Given the description of an element on the screen output the (x, y) to click on. 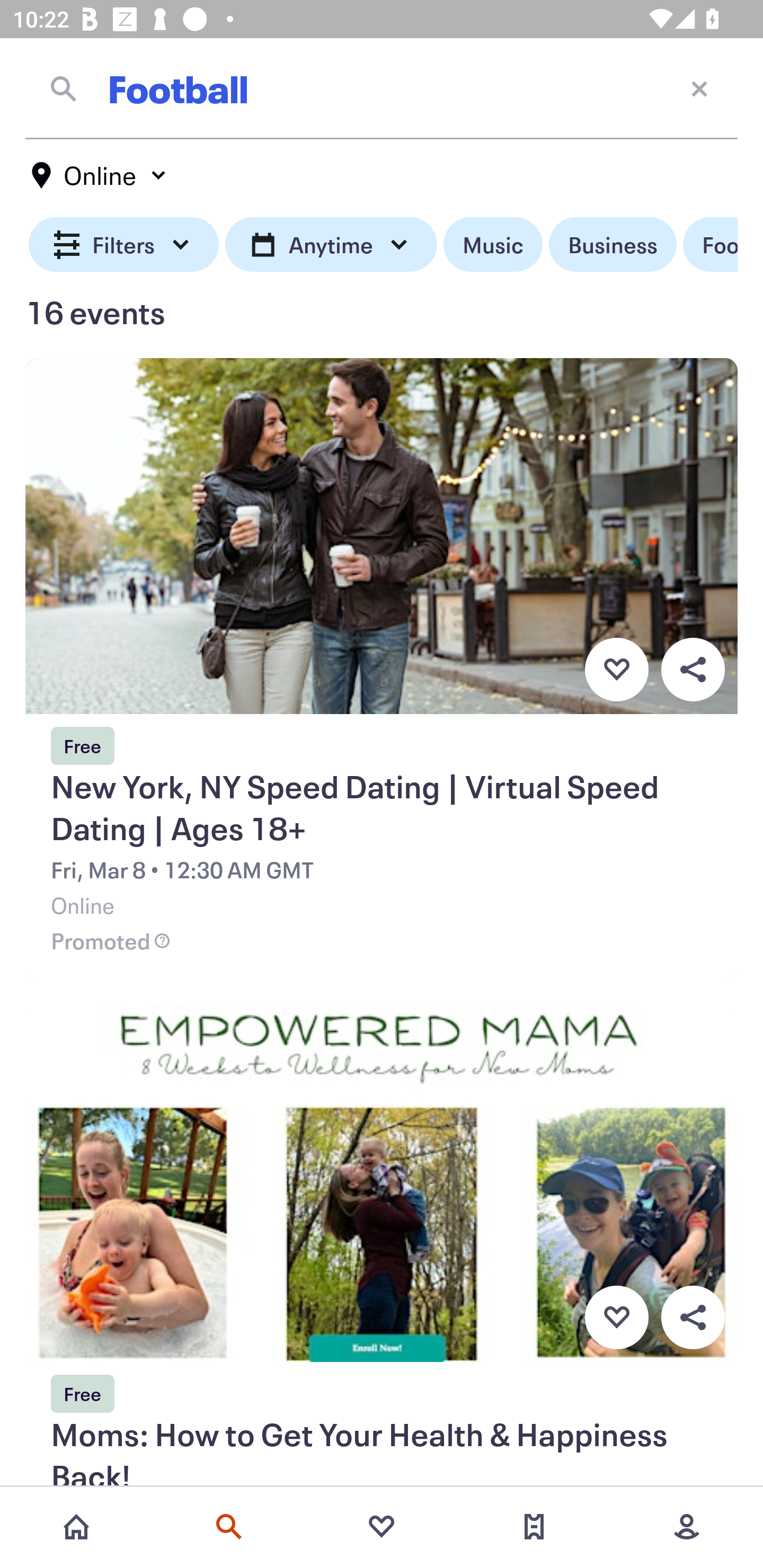
Football Close current screen (381, 88)
Close current screen (699, 88)
Online (99, 175)
Filters (123, 244)
Anytime (331, 244)
Music (492, 244)
Business (612, 244)
Favorite button (616, 669)
Overflow menu button (692, 669)
Favorite button (616, 1317)
Overflow menu button (692, 1317)
Home (76, 1526)
Search events (228, 1526)
Favorites (381, 1526)
Tickets (533, 1526)
More (686, 1526)
